Given the description of an element on the screen output the (x, y) to click on. 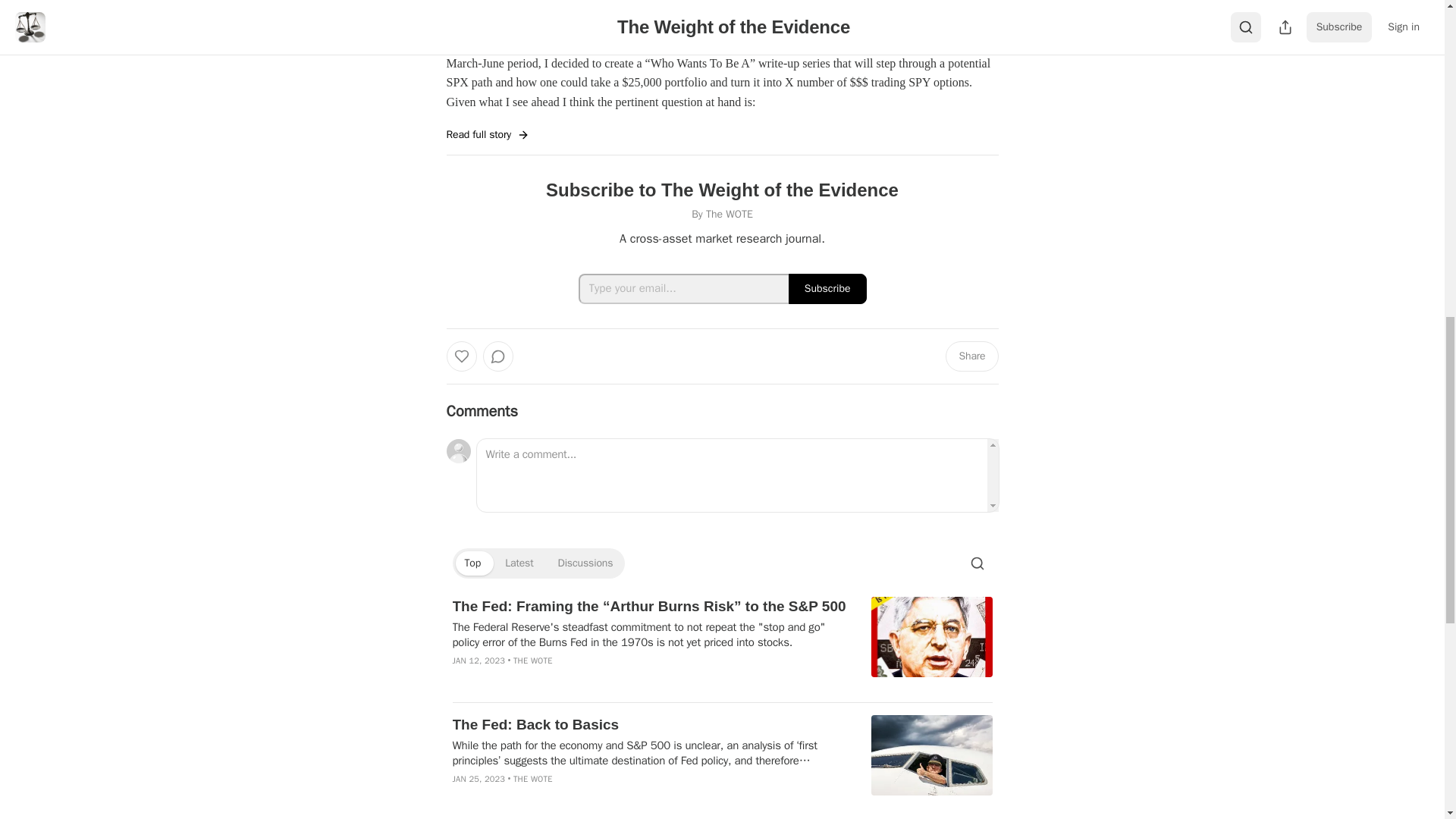
Read full story (487, 134)
Share (970, 356)
Subscribe (827, 288)
